Given the description of an element on the screen output the (x, y) to click on. 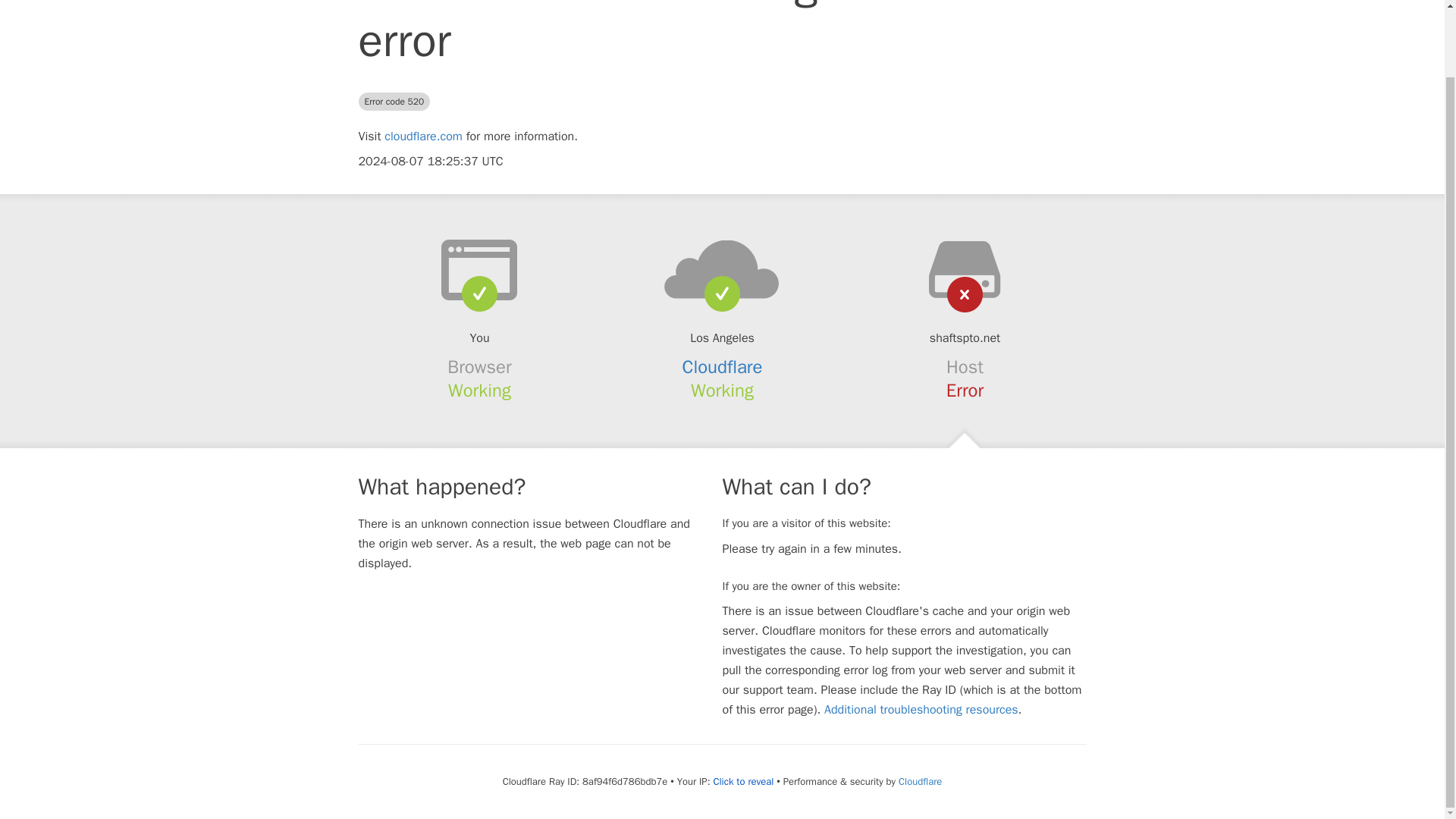
cloudflare.com (423, 136)
Cloudflare (722, 366)
Cloudflare (920, 780)
Additional troubleshooting resources (920, 709)
Click to reveal (743, 781)
